Given the description of an element on the screen output the (x, y) to click on. 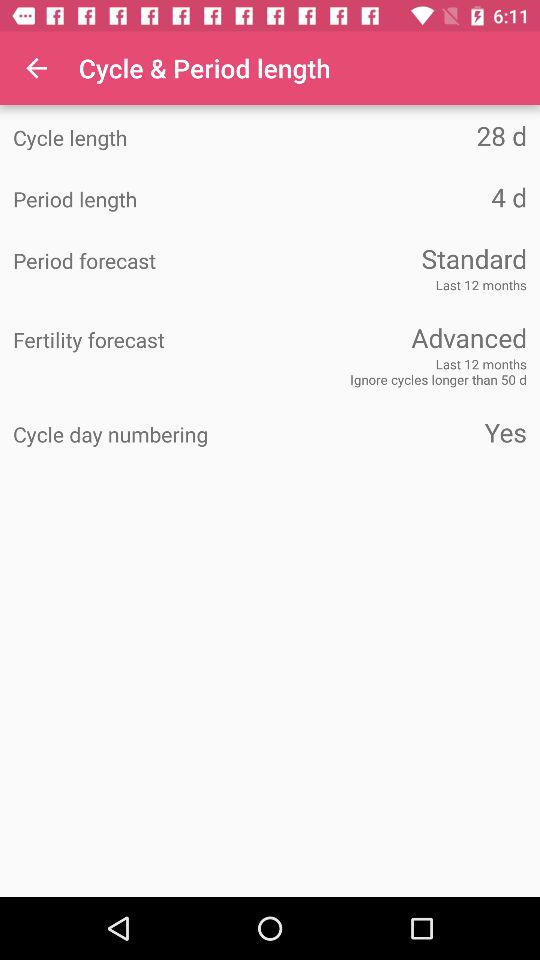
scroll until the fertility forecast icon (141, 340)
